Given the description of an element on the screen output the (x, y) to click on. 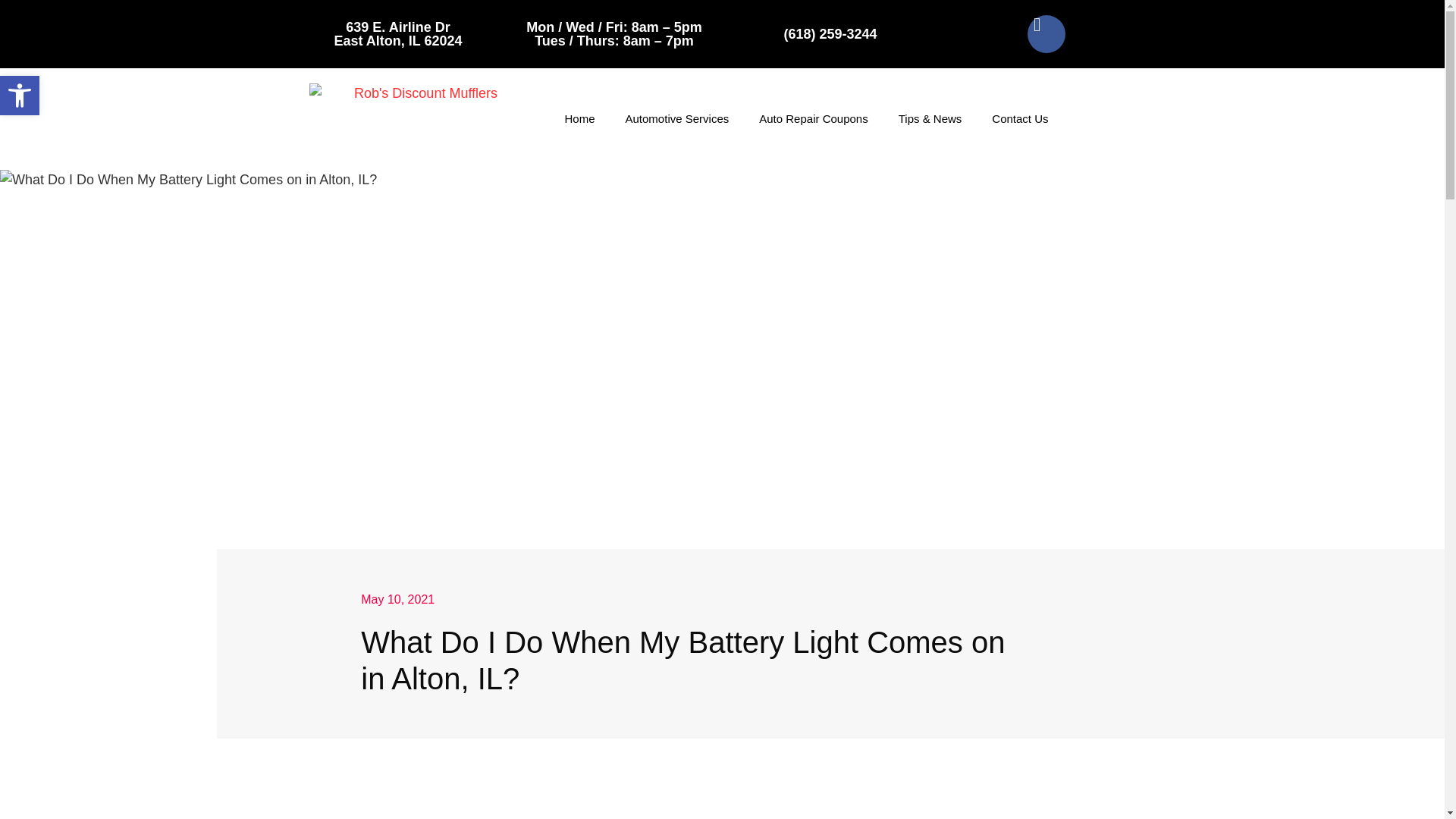
Home (579, 118)
Automotive Services (677, 118)
Accessibility Tools (19, 95)
Accessibility Tools (397, 33)
Auto Repair Coupons (19, 95)
Contact Us (813, 118)
